Given the description of an element on the screen output the (x, y) to click on. 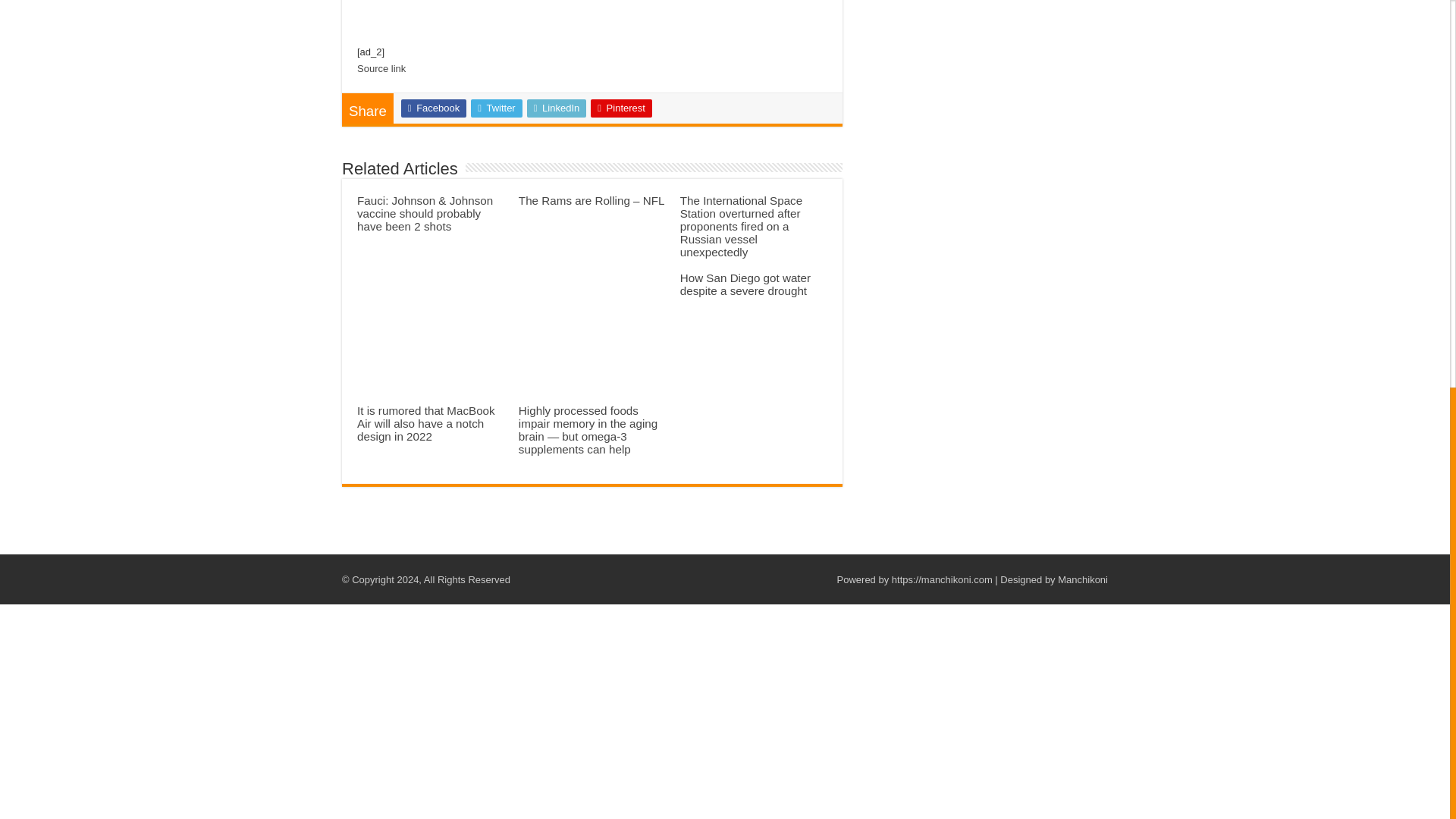
Scroll To Top (1427, 143)
Twitter (495, 108)
Source link (381, 68)
LinkedIn (556, 108)
Pinterest (621, 108)
Facebook (433, 108)
Advertisement (989, 46)
